Given the description of an element on the screen output the (x, y) to click on. 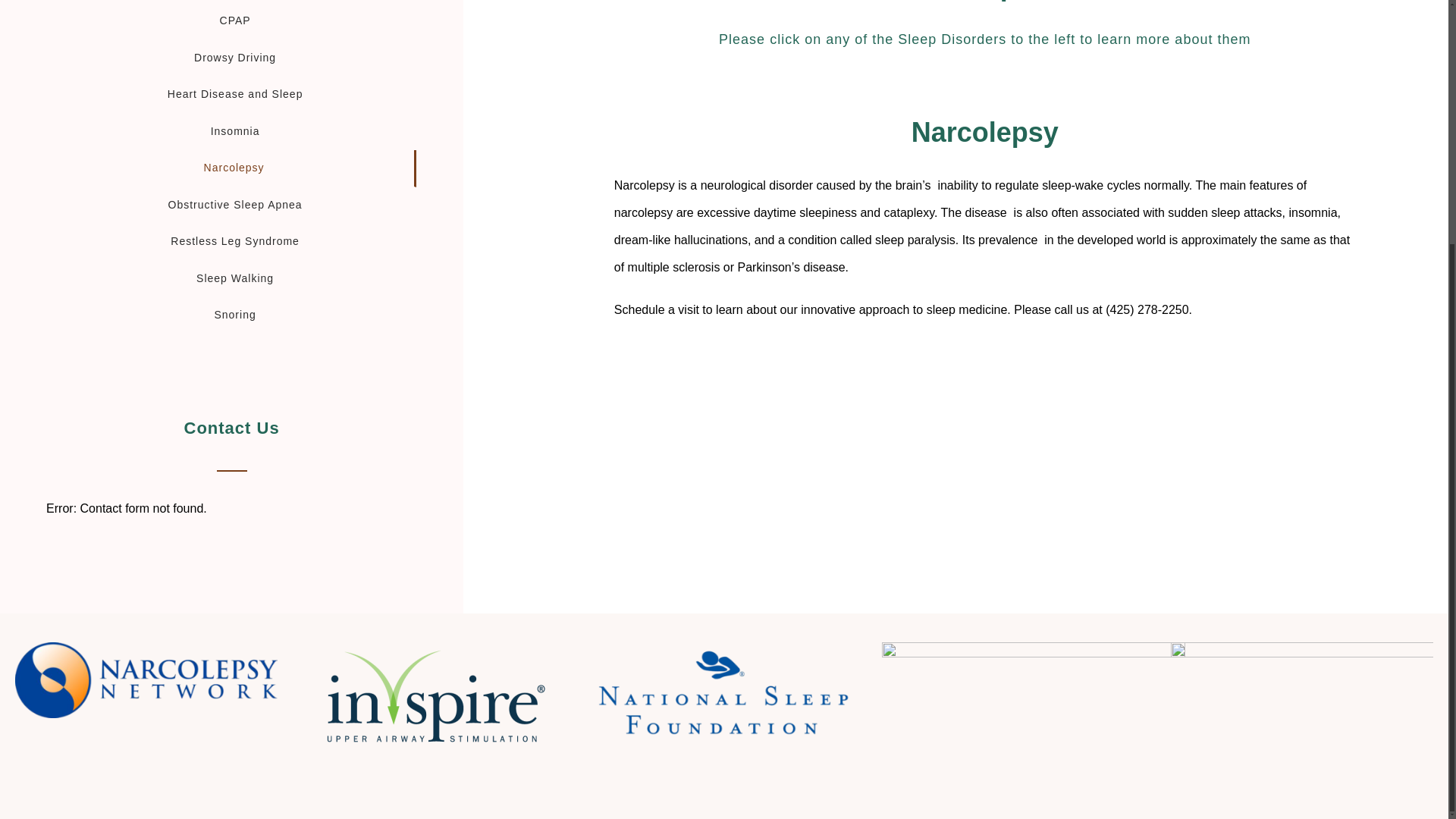
Heart Disease and Sleep (231, 94)
Sleep Walking (231, 278)
Insomnia (231, 131)
Obstructive Sleep Apnea (231, 205)
Narcolepsy (231, 168)
Snoring (231, 315)
CPAP (231, 21)
Drowsy Driving (231, 58)
Restless Leg Syndrome (231, 242)
